Given the description of an element on the screen output the (x, y) to click on. 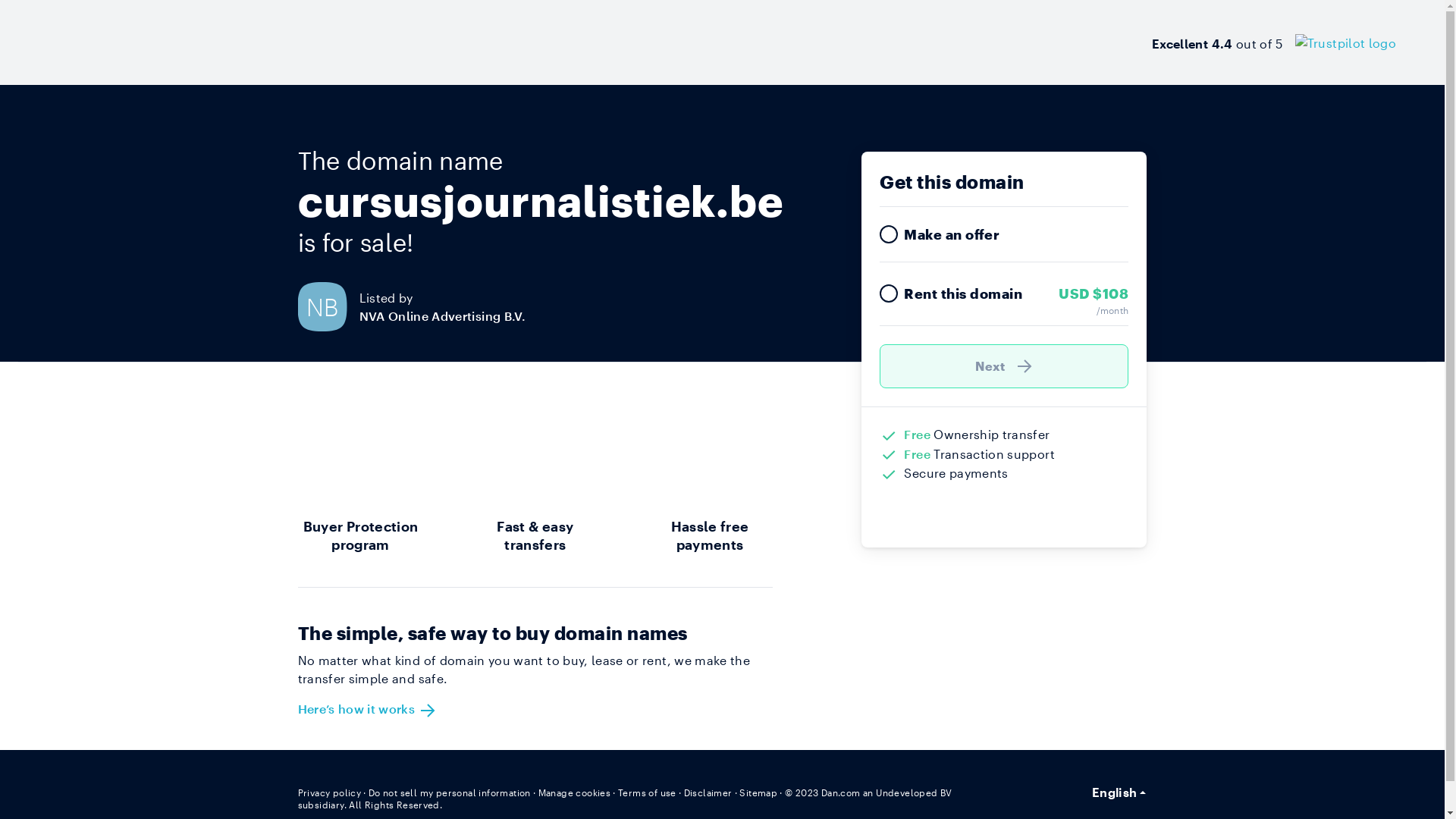
Disclaimer Element type: text (708, 792)
Next
) Element type: text (1003, 366)
Do not sell my personal information Element type: text (449, 792)
English Element type: text (1119, 792)
Sitemap Element type: text (758, 792)
Terms of use Element type: text (647, 792)
Excellent 4.4 out of 5 Element type: text (1273, 42)
Manage cookies Element type: text (574, 792)
Privacy policy Element type: text (328, 792)
